Given the description of an element on the screen output the (x, y) to click on. 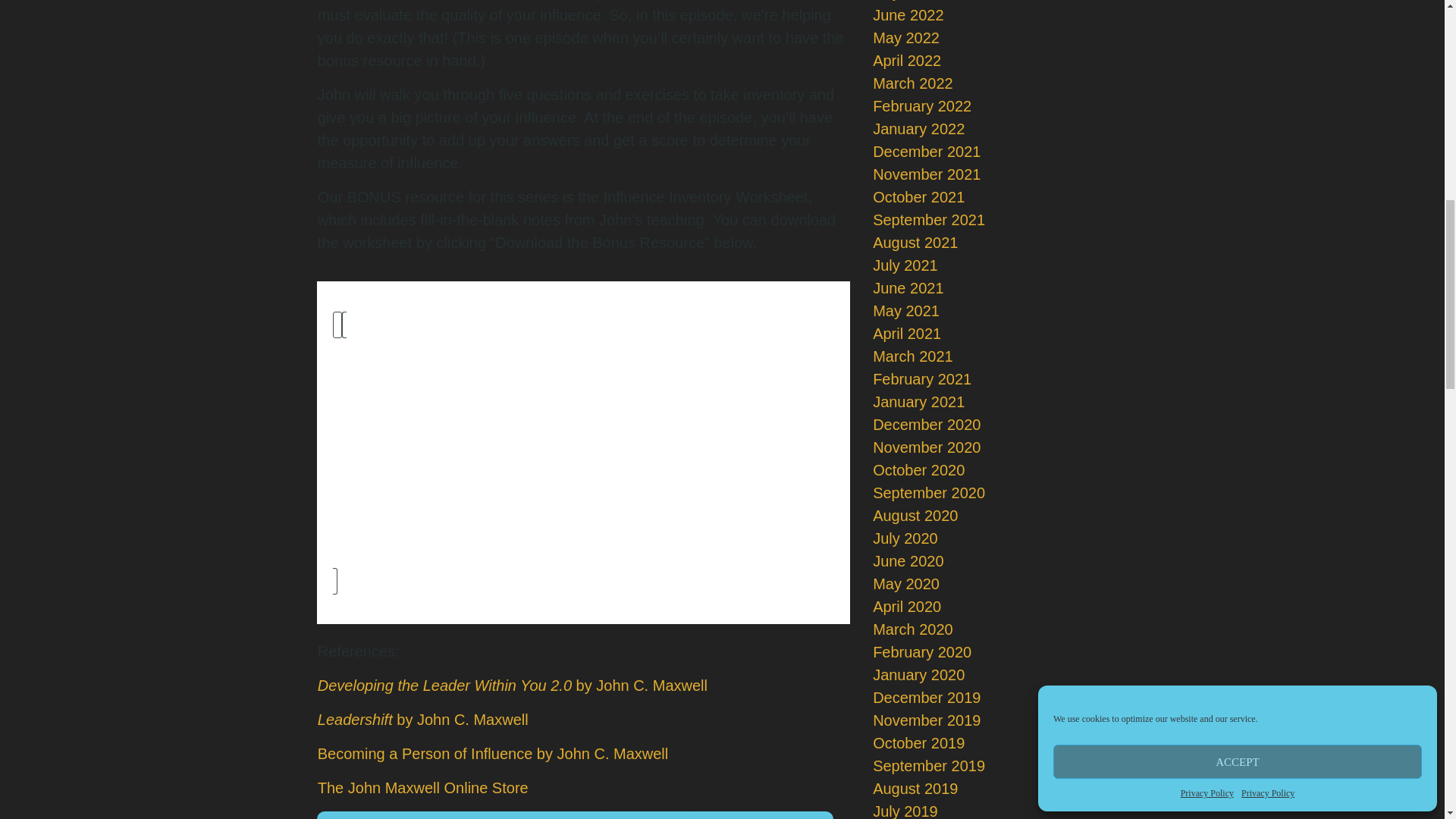
Developing the Leader Within You 2.0 by John C. Maxwell (512, 685)
The John Maxwell Online Store (422, 787)
SUBSCRIBE NOW! (575, 815)
Becoming a Person of Influence by John C. Maxwell (492, 753)
Leadershift by John C. Maxwell (422, 719)
Form 0 (583, 452)
